Given the description of an element on the screen output the (x, y) to click on. 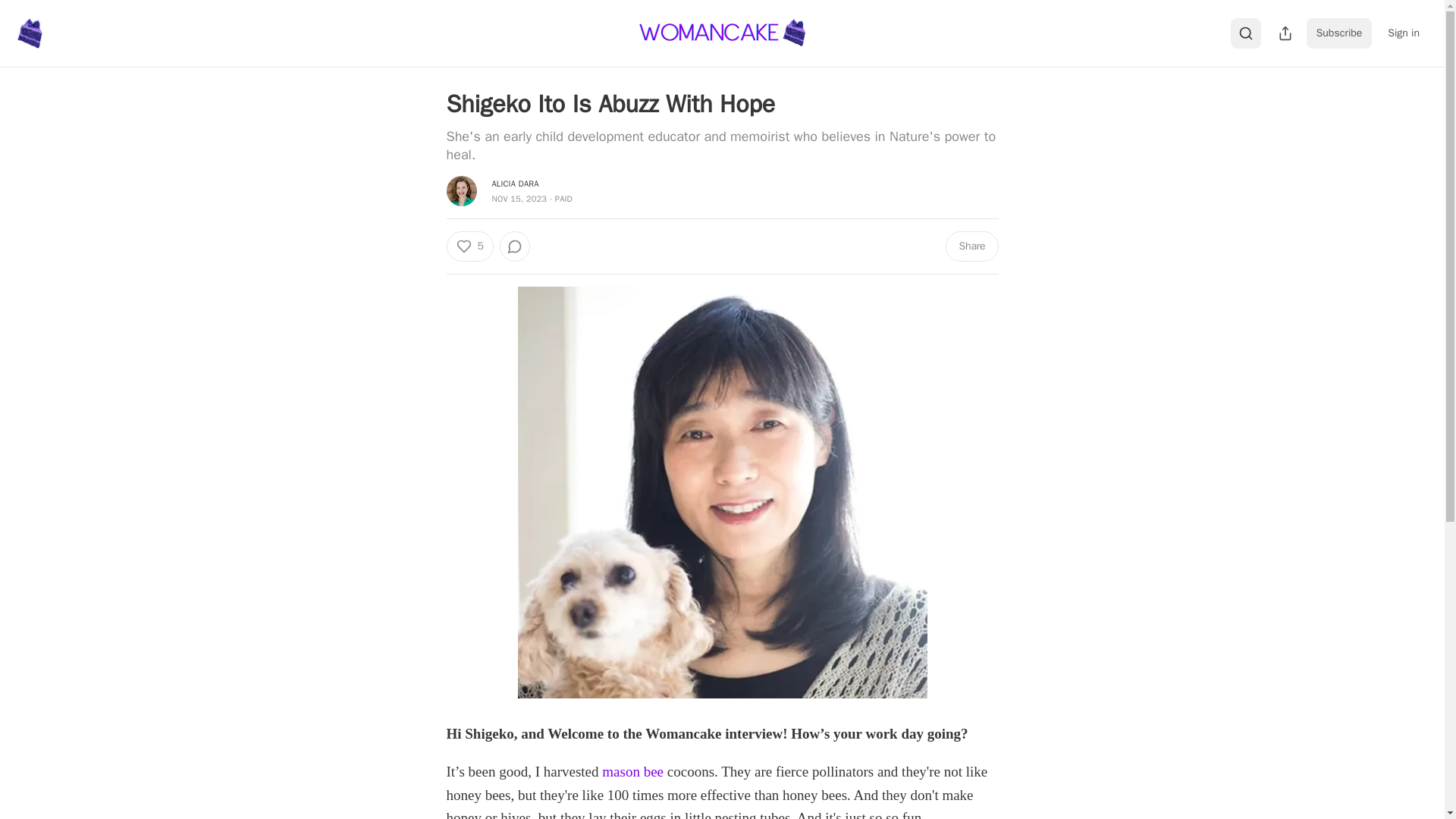
Subscribe (1339, 33)
mason bee (632, 771)
ALICIA DARA (515, 183)
5 (469, 245)
Sign in (1403, 33)
Share (970, 245)
